Given the description of an element on the screen output the (x, y) to click on. 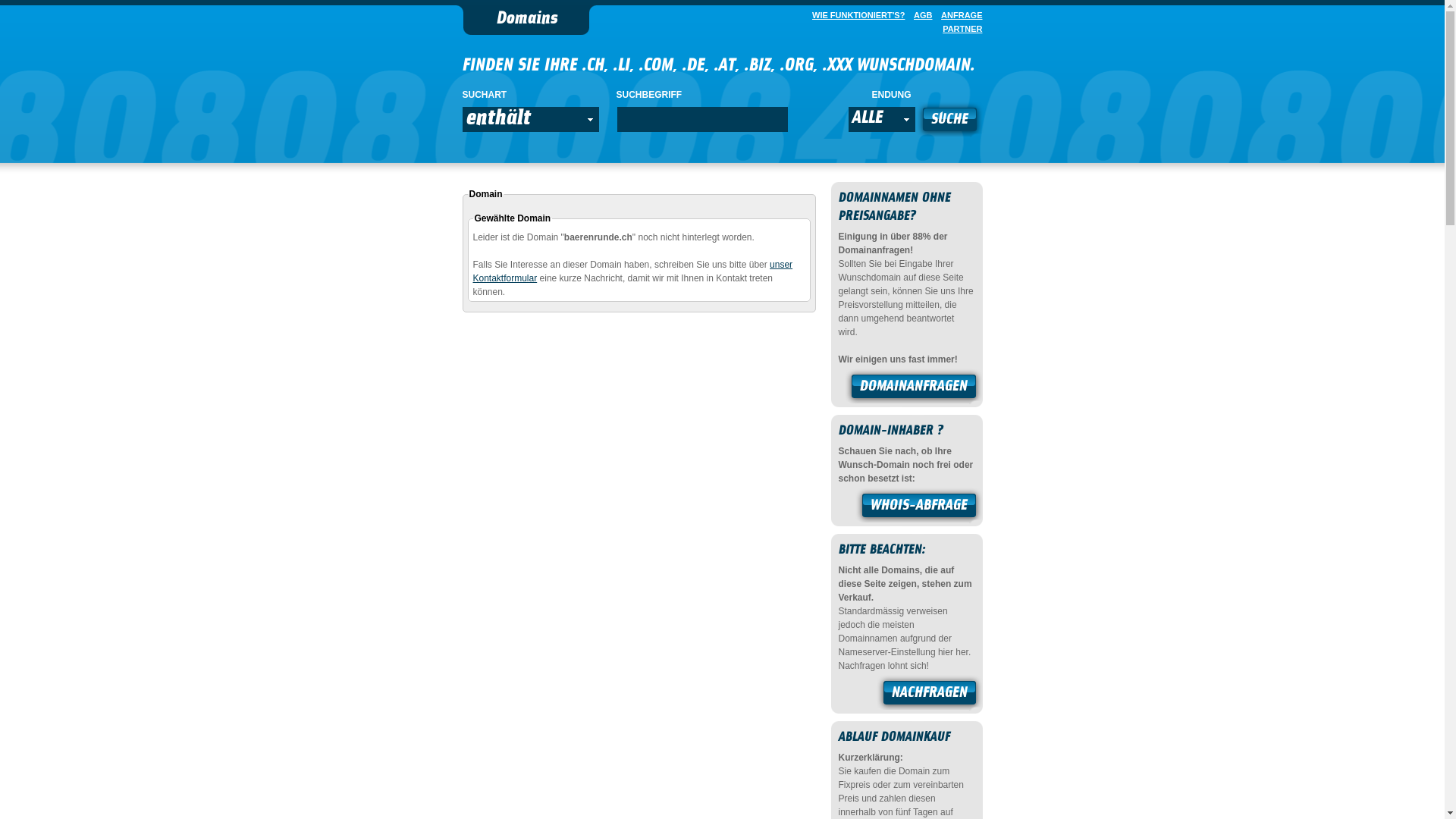
SUCHE Element type: text (949, 121)
unser Kontaktformular Element type: text (633, 271)
Domains Element type: text (526, 19)
AGB Element type: text (919, 14)
WHOIS-ABFRAGE Element type: text (918, 507)
NACHFRAGEN Element type: text (929, 694)
ANFRAGE Element type: text (958, 14)
DOMAINANFRAGEN Element type: text (913, 387)
WIE FUNKTIONIERT'S? Element type: text (855, 14)
PARTNER Element type: text (959, 28)
